Given the description of an element on the screen output the (x, y) to click on. 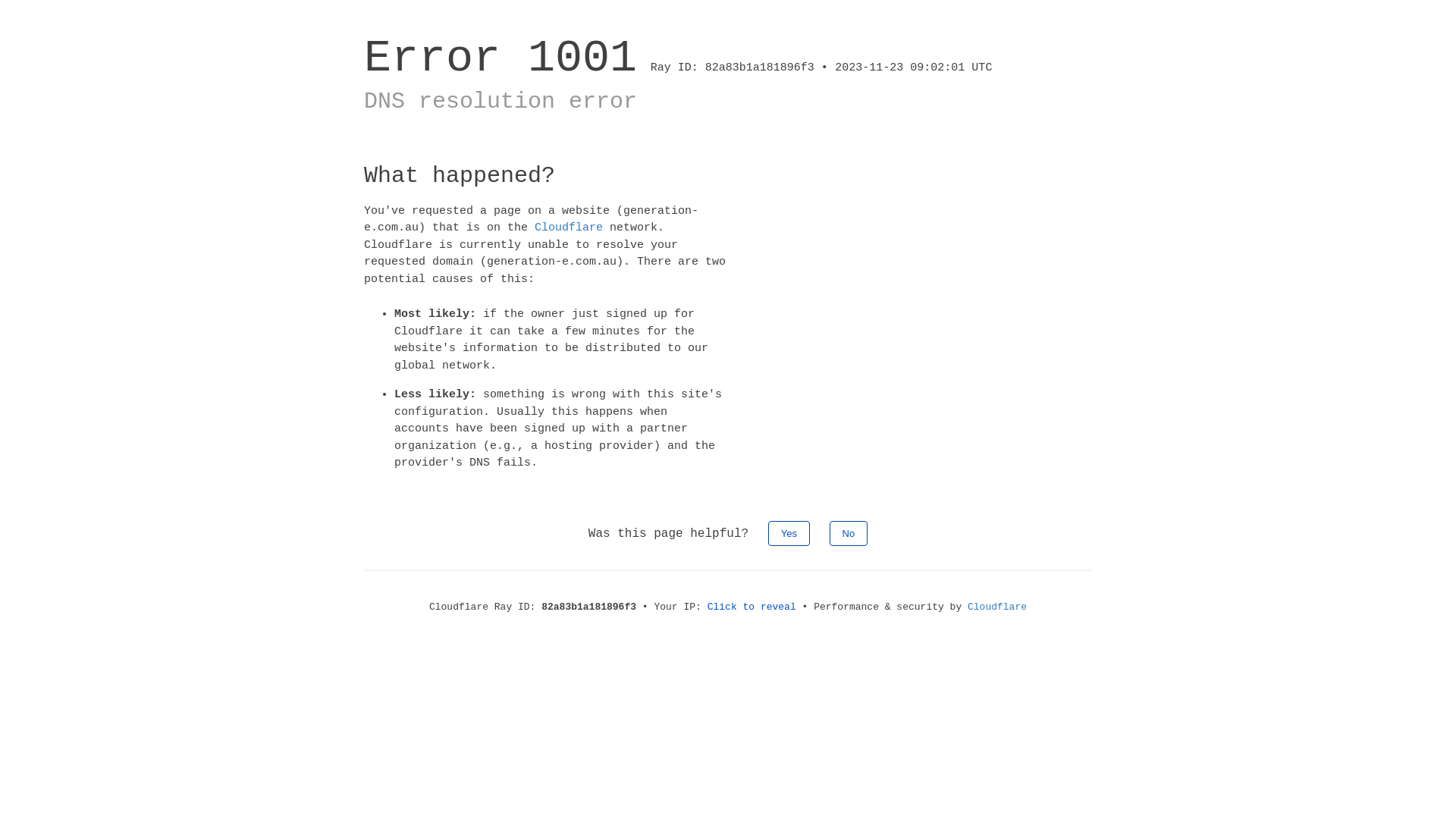
Click to reveal Element type: text (751, 605)
Cloudflare Element type: text (996, 605)
Yes Element type: text (788, 532)
No Element type: text (848, 532)
Cloudflare Element type: text (568, 227)
